Given the description of an element on the screen output the (x, y) to click on. 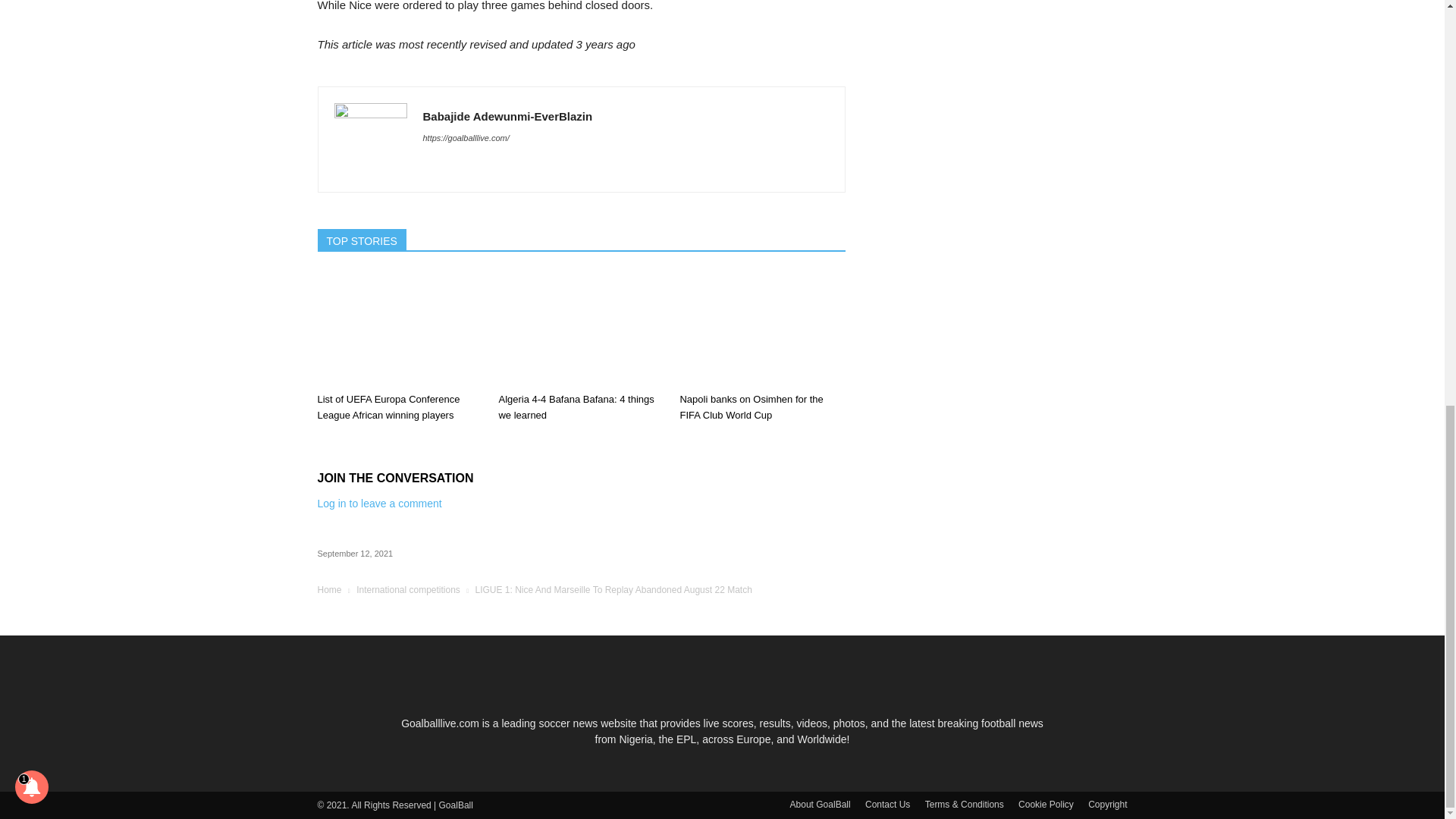
Napoli banks on Osimhen for the FIFA Club World Cup (761, 328)
Algeria 4-4 Bafana Bafana: 4 things we learned (575, 406)
Napoli banks on Osimhen for the FIFA Club World Cup (750, 406)
Algeria 4-4 Bafana Bafana: 4 things we learned (580, 328)
